Given the description of an element on the screen output the (x, y) to click on. 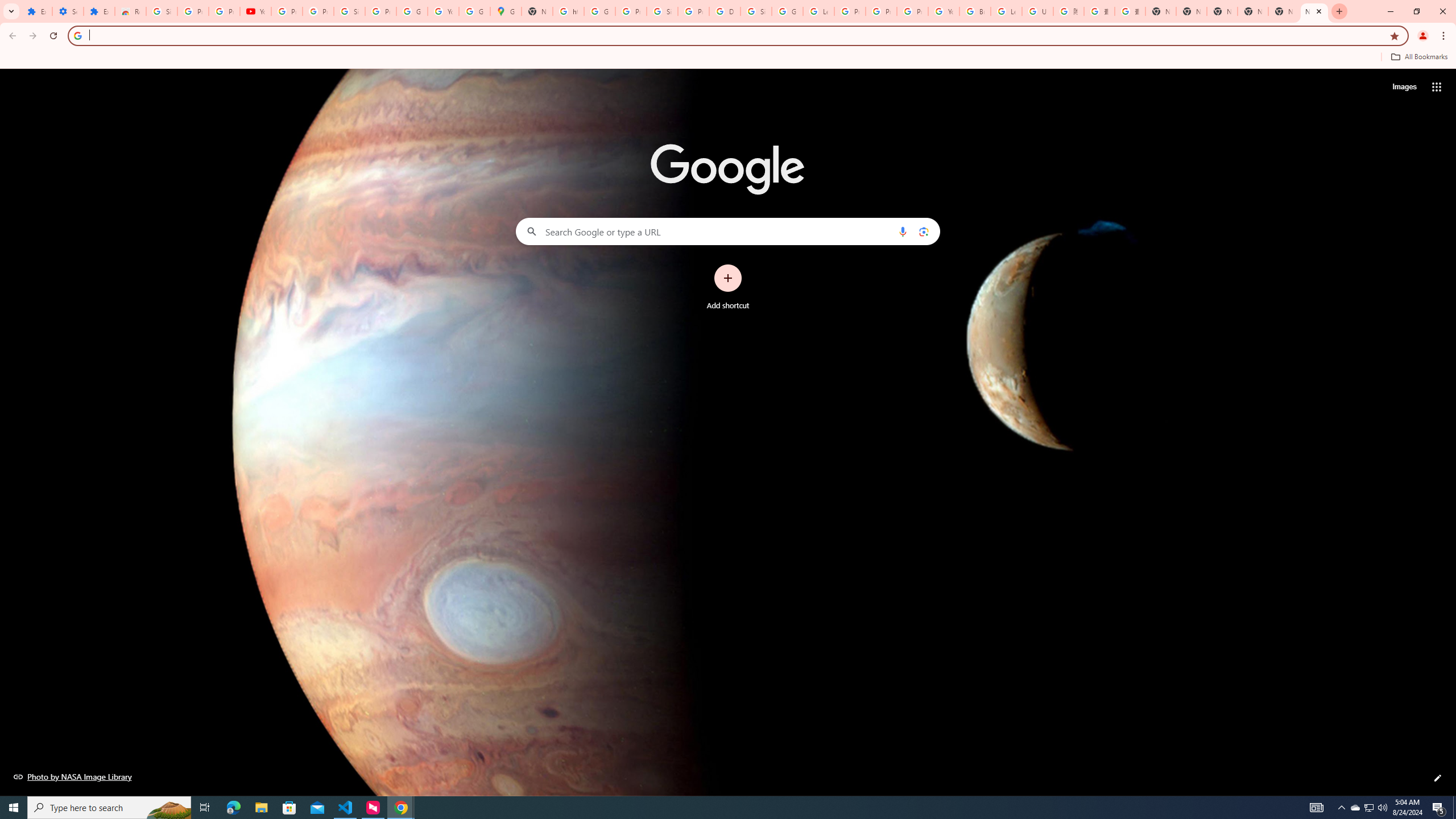
Search Google or type a URL (727, 230)
Google Account (411, 11)
Settings (67, 11)
Photo by NASA Image Library (72, 776)
New Tab (1314, 11)
YouTube (943, 11)
